Given the description of an element on the screen output the (x, y) to click on. 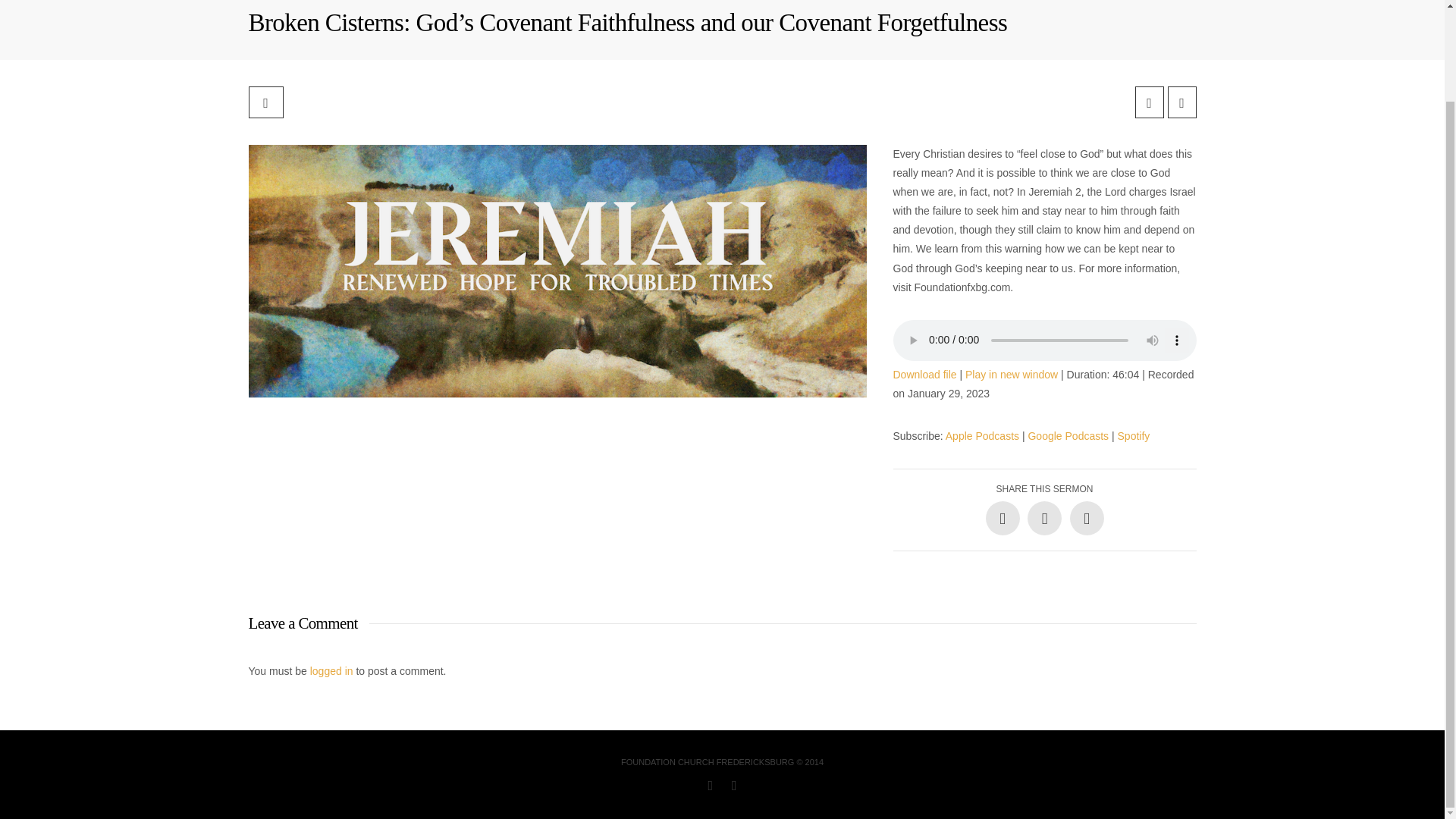
Spotify (1134, 435)
Spotify (1134, 435)
logged in (331, 671)
Share on Facebook (1002, 518)
Google Podcasts (1067, 435)
Apple Podcasts (981, 435)
Download file (924, 374)
Play in new window (1011, 374)
Apple Podcasts (981, 435)
Google Podcasts (1067, 435)
